Given the description of an element on the screen output the (x, y) to click on. 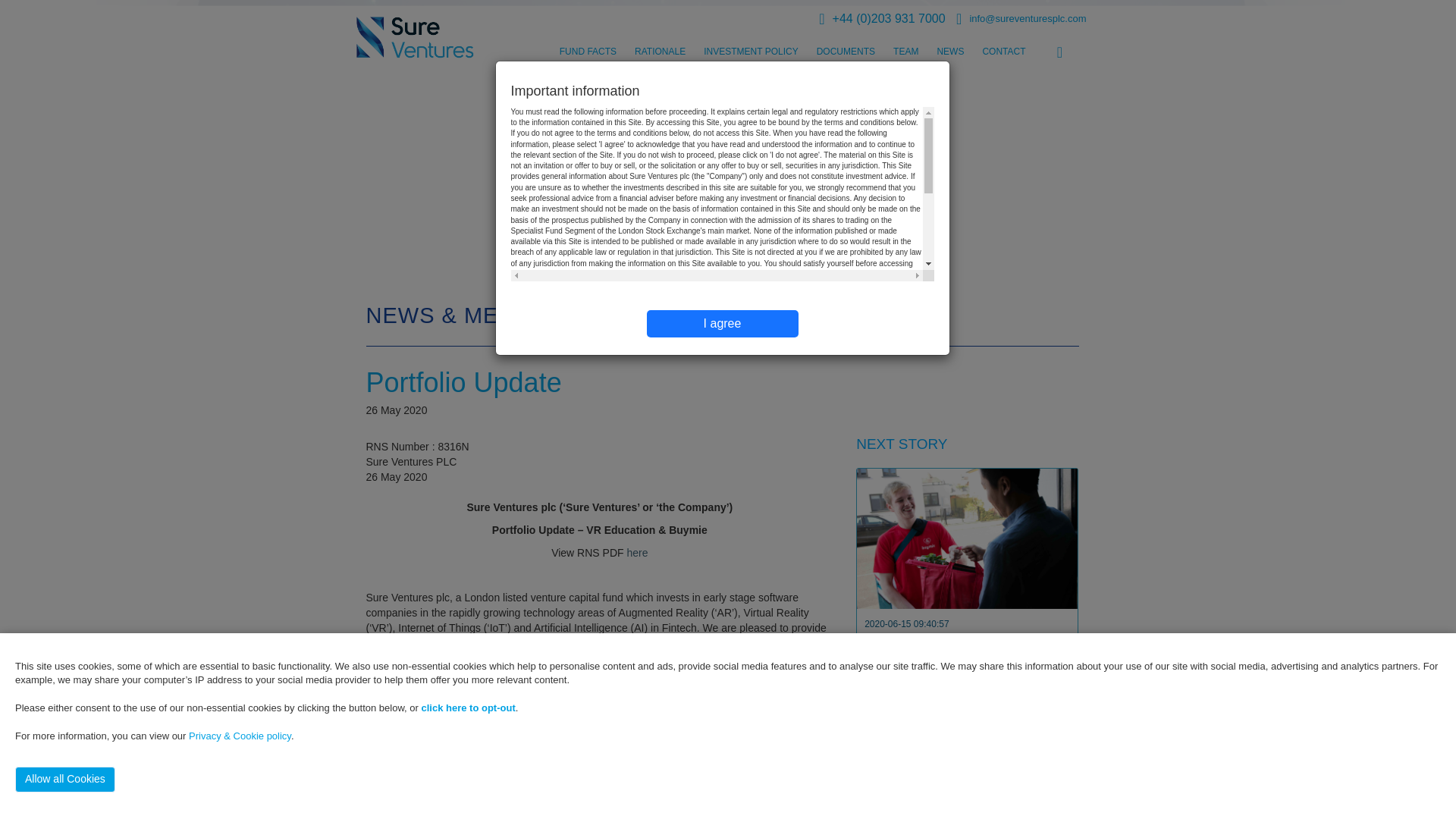
I agree (721, 323)
CONTACT (1003, 53)
here (636, 551)
Results of AGM 2022 (936, 764)
Allow all Cookies (64, 779)
click here to opt-out (468, 707)
RATIONALE (659, 53)
DOCUMENTS (845, 53)
NEWS (949, 53)
INVESTMENT POLICY (750, 53)
